Given the description of an element on the screen output the (x, y) to click on. 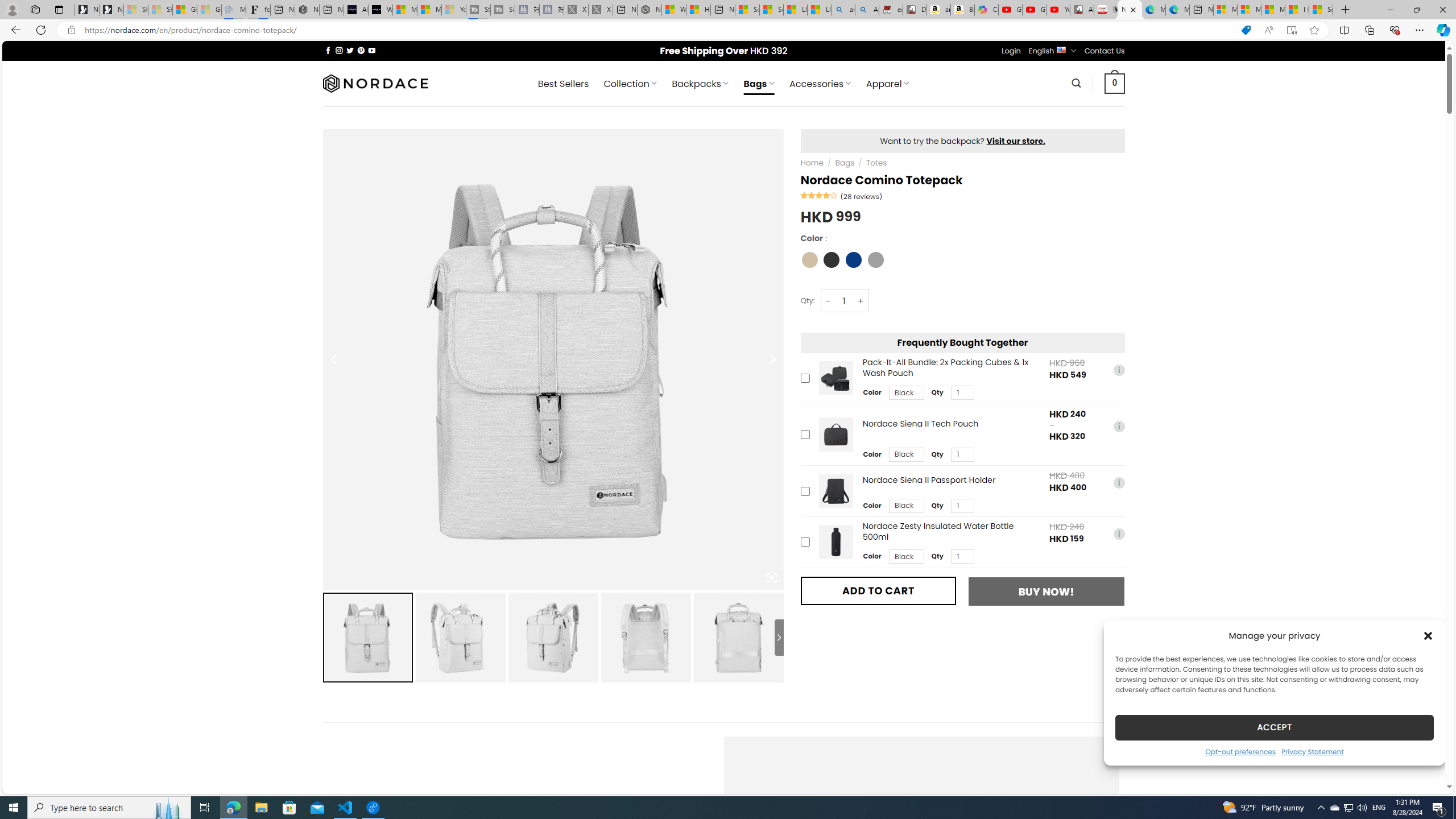
YouTube Kids - An App Created for Kids to Explore Content (1057, 9)
Huge shark washes ashore at New York City beach | Watch (697, 9)
Nordace Comino Totepack (1129, 9)
I Gained 20 Pounds of Muscle in 30 Days! | Watch (1296, 9)
Microsoft account | Privacy (1248, 9)
Follow on Facebook (327, 49)
This site has coupons! Shopping in Microsoft Edge (1245, 29)
